Given the description of an element on the screen output the (x, y) to click on. 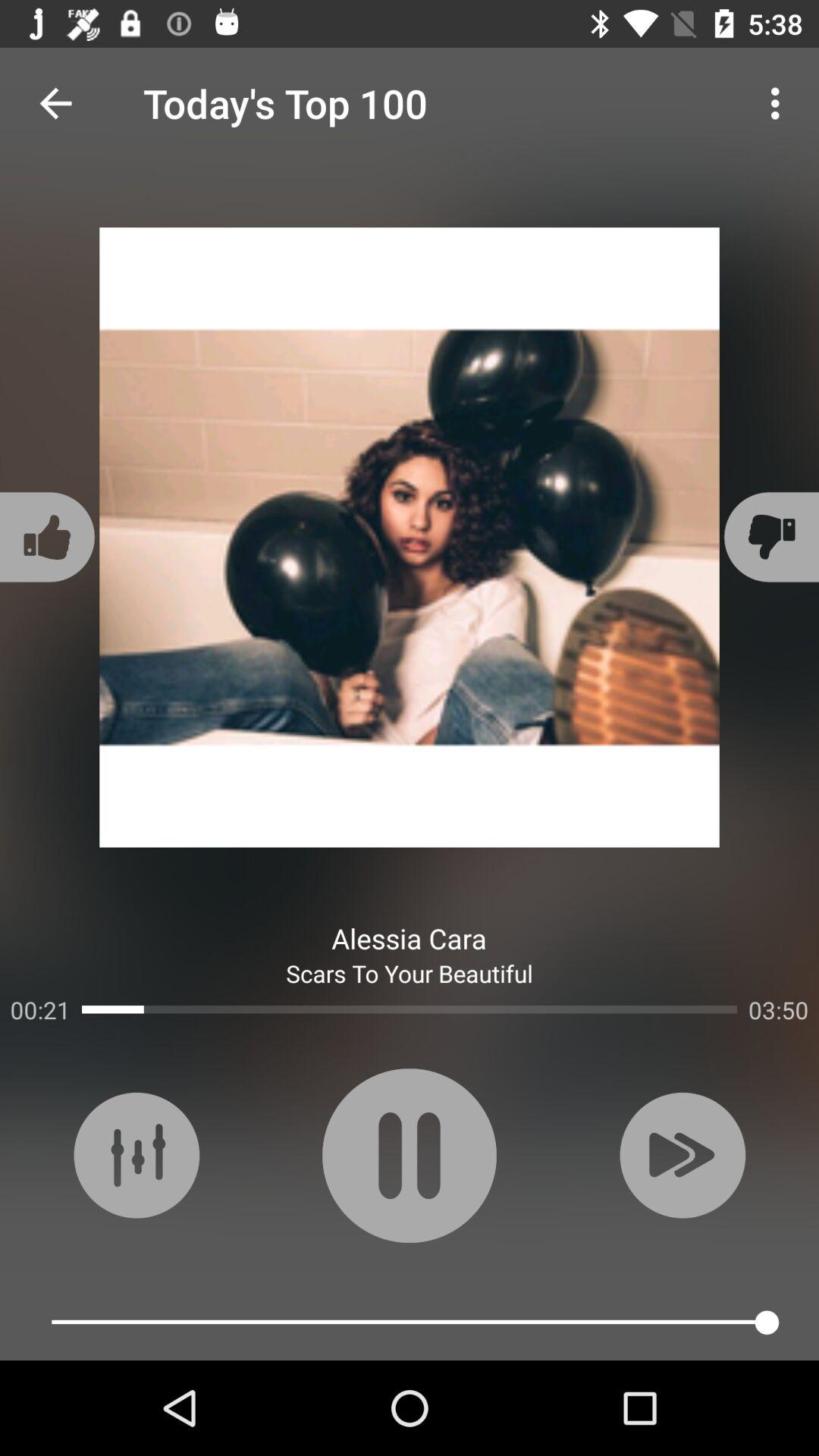
tap item next to the today s top icon (779, 103)
